Given the description of an element on the screen output the (x, y) to click on. 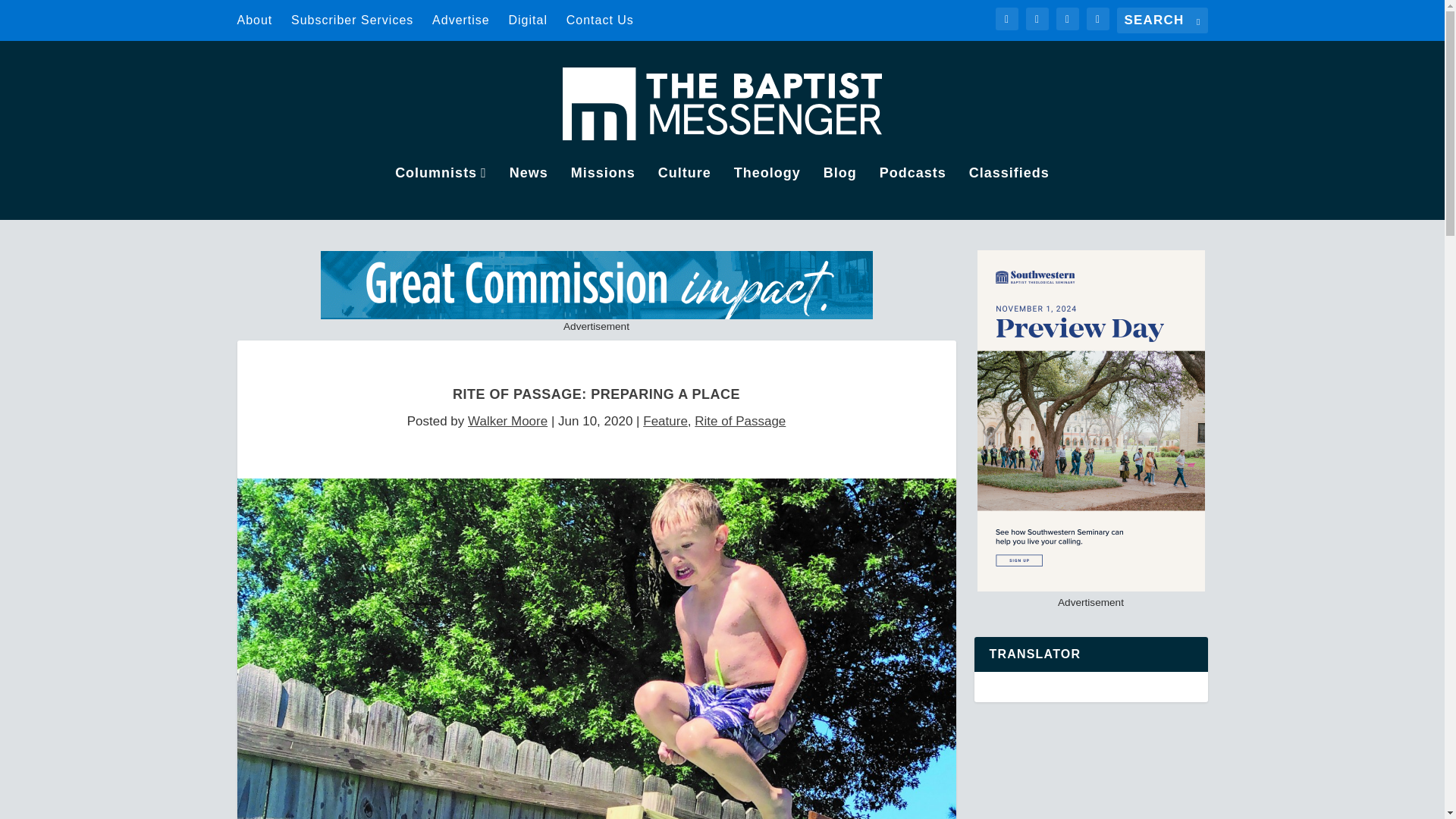
Columnists (440, 193)
Rite of Passage (740, 421)
Contact Us (599, 20)
Digital (527, 20)
Podcasts (912, 193)
About (253, 20)
Advertise (460, 20)
Walker Moore (507, 421)
Search for: (1161, 20)
Missions (602, 193)
Feature (665, 421)
Theology (766, 193)
Posts by Walker Moore (507, 421)
Culture (684, 193)
Classifieds (1009, 193)
